Given the description of an element on the screen output the (x, y) to click on. 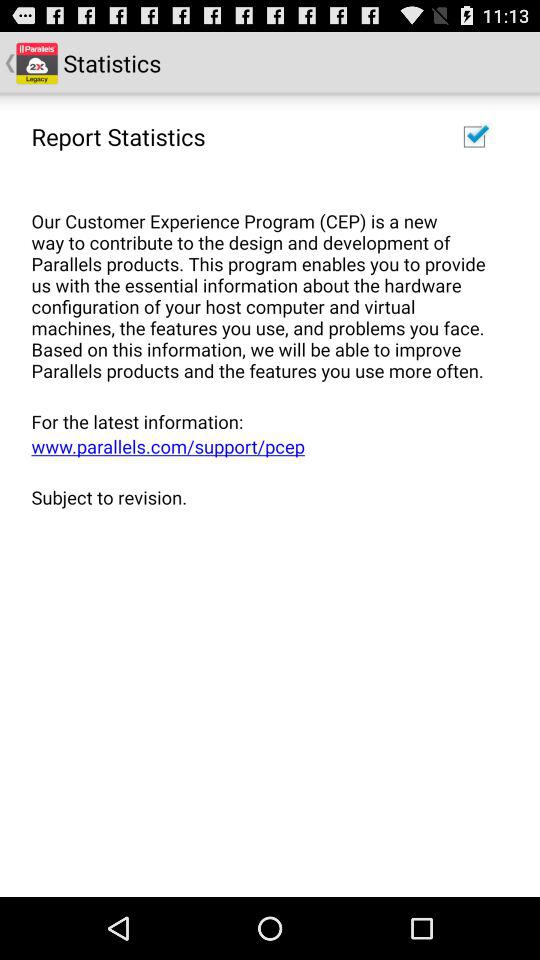
launch app above www parallels com item (263, 421)
